Given the description of an element on the screen output the (x, y) to click on. 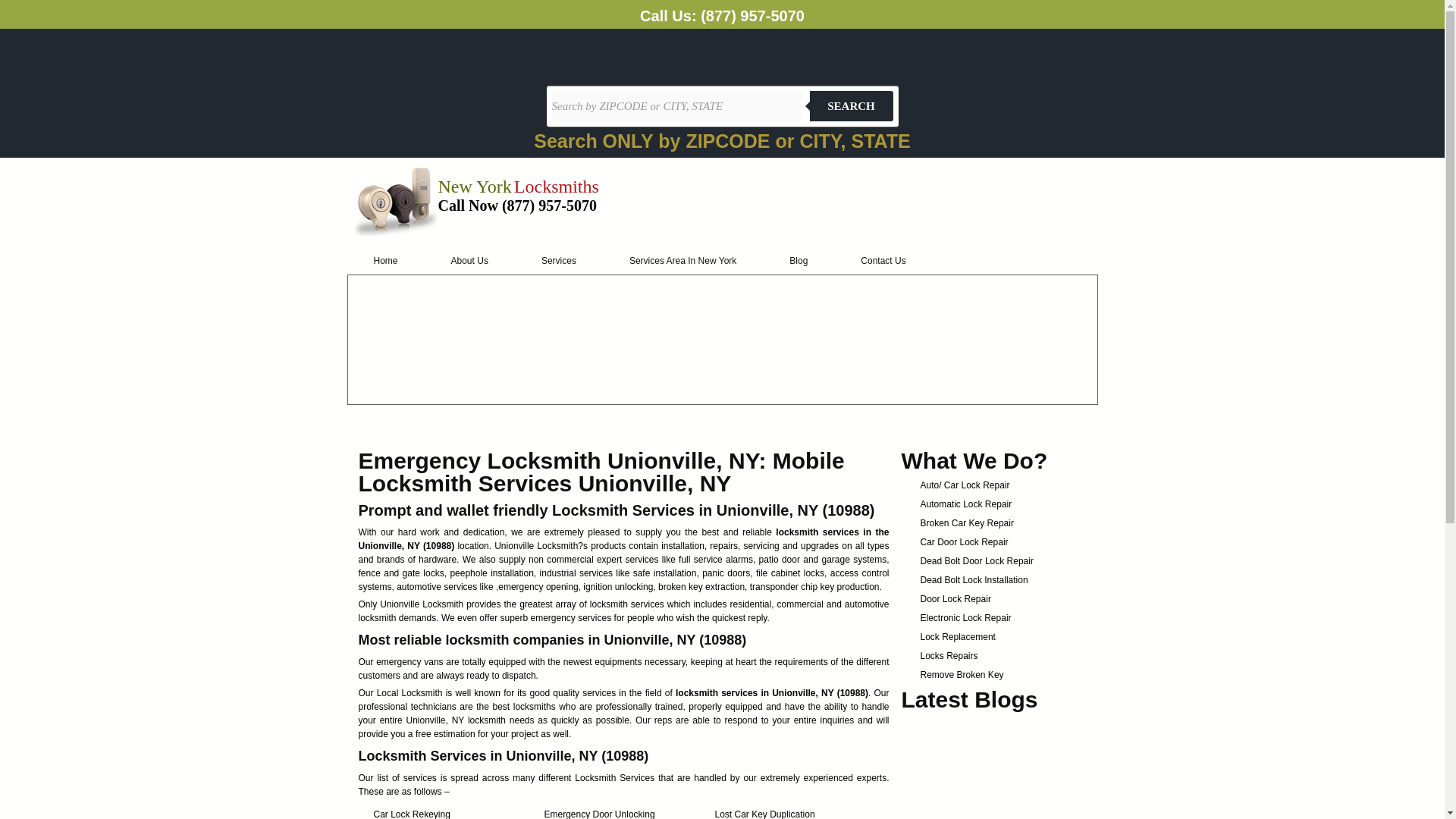
New York Locksmiths (518, 189)
Blog (798, 260)
SEARCH (851, 105)
Contact Us (882, 260)
About Us (470, 260)
Services Area In New York (682, 260)
Home (386, 260)
Services (558, 260)
